Given the description of an element on the screen output the (x, y) to click on. 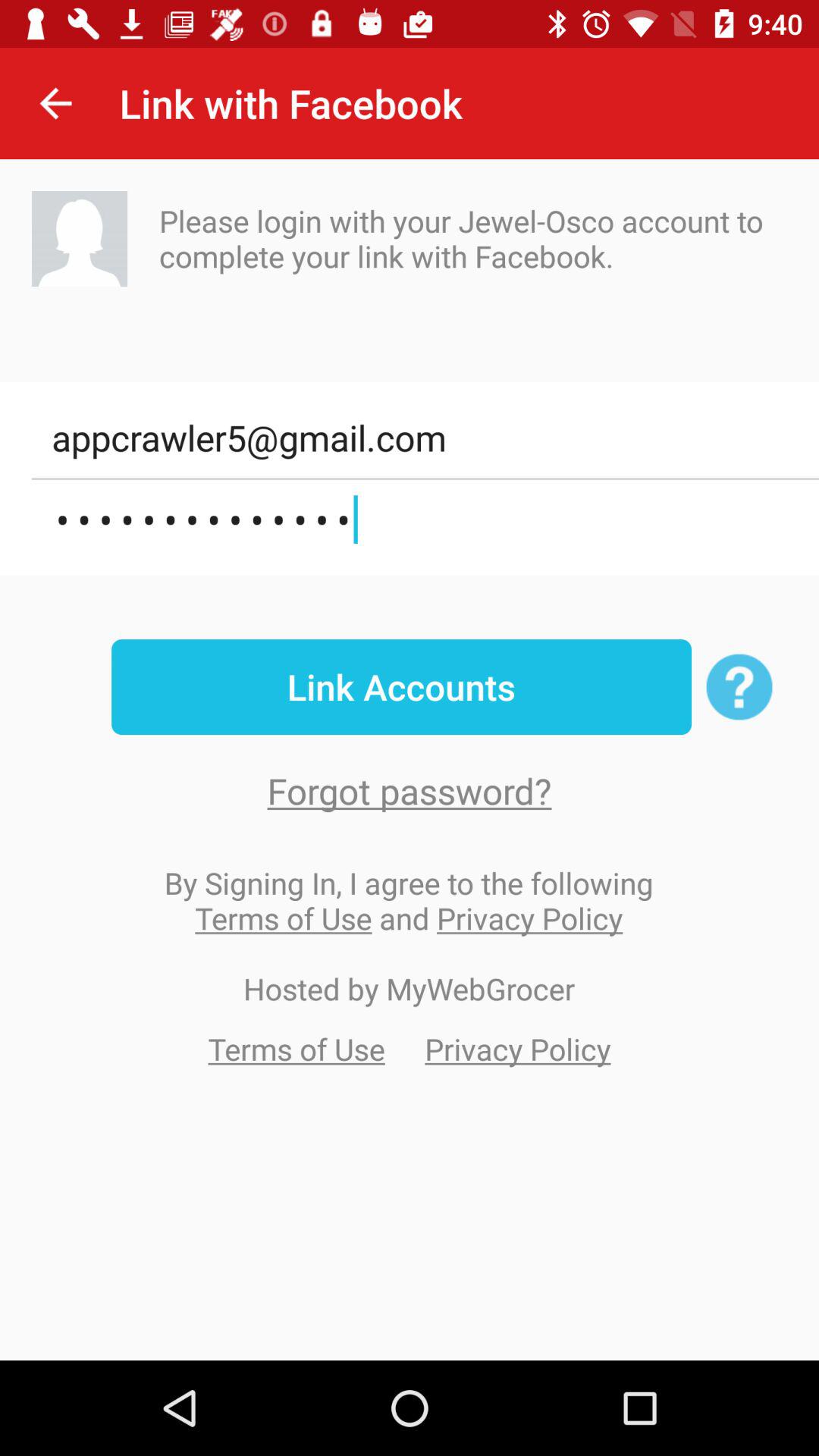
turn off item above by signing in item (409, 790)
